Given the description of an element on the screen output the (x, y) to click on. 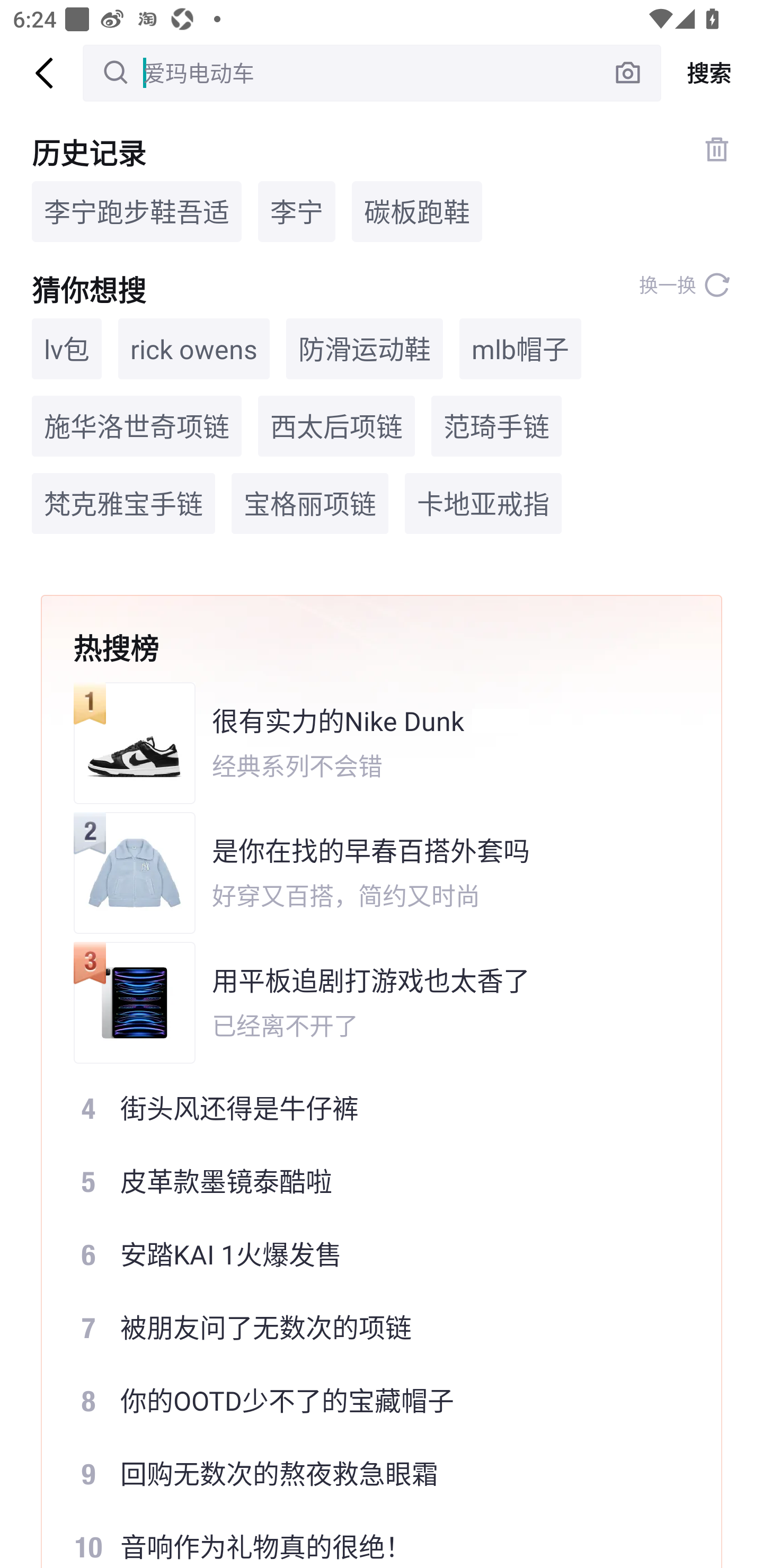
搜索 (712, 72)
爱玛电动车 (371, 72)
李宁跑步鞋吾适 (136, 211)
李宁 (296, 211)
碳板跑鞋 (416, 211)
换一换 (684, 285)
lv包 (66, 348)
rick owens (193, 348)
防滑运动鞋 (364, 348)
mlb帽子 (520, 348)
施华洛世奇项链 (136, 425)
西太后项链 (336, 425)
范琦手链 (496, 425)
梵克雅宝手链 (123, 503)
宝格丽项链 (309, 503)
卡地亚戒指 (483, 503)
很有实力的Nike Dunk 经典系列不会错 (369, 743)
是你在找的早春百搭外套吗 好穿又百搭，简约又时尚 (369, 873)
用平板追剧打游戏也太香了 已经离不开了 (369, 1002)
4 街头风还得是牛仔裤 (369, 1107)
5 皮革款墨镜泰酷啦 (369, 1181)
6 安踏KAI 1火爆发售 (369, 1254)
7 被朋友问了无数次的项链 (369, 1327)
8 你的OOTD少不了的宝藏帽子 (369, 1400)
9 回购无数次的熬夜救急眼霜 (369, 1473)
10 音响作为礼物真的很绝！ (369, 1538)
